Given the description of an element on the screen output the (x, y) to click on. 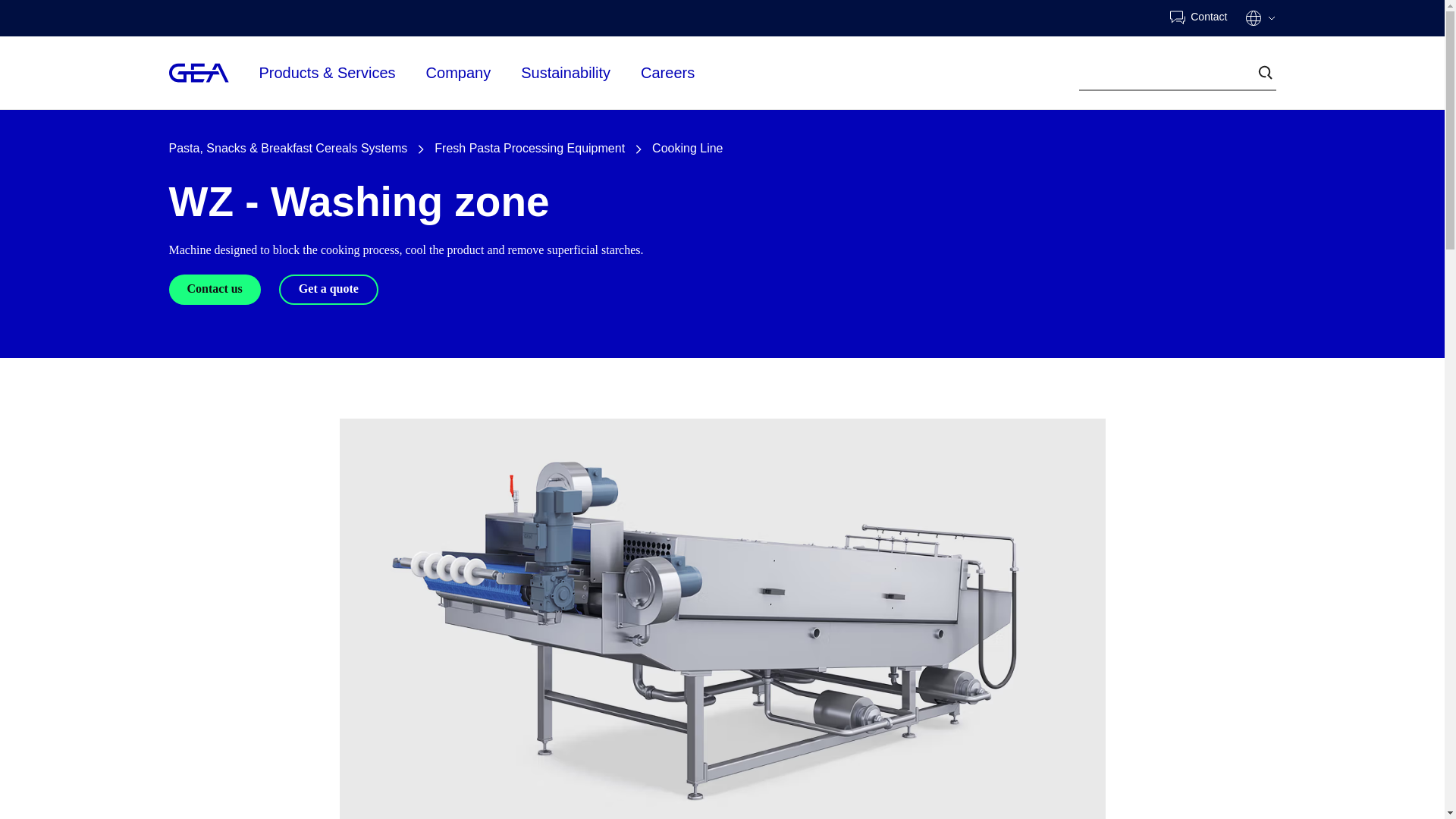
Careers (667, 71)
Company (459, 72)
Careers (667, 72)
Contact GEA (1198, 17)
Contact (1198, 17)
Sustainability (565, 72)
Company (459, 71)
Sustainability (565, 71)
